Given the description of an element on the screen output the (x, y) to click on. 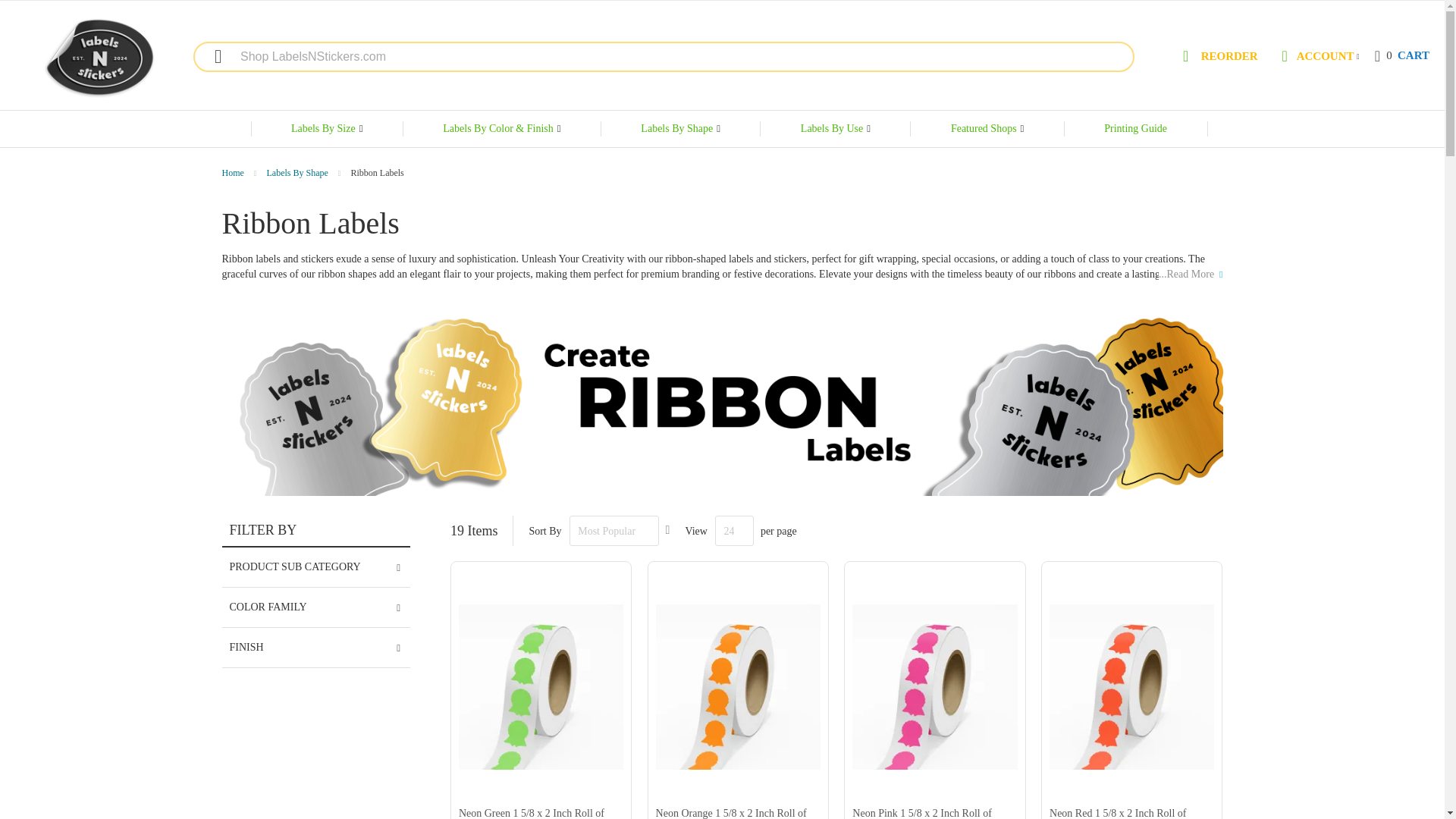
Reorder (1401, 56)
Search (1217, 57)
Search (210, 56)
Go to Home Page (210, 56)
Labels N Stickers logo (233, 172)
REORDER (98, 57)
Labels By Size (1217, 57)
